Given the description of an element on the screen output the (x, y) to click on. 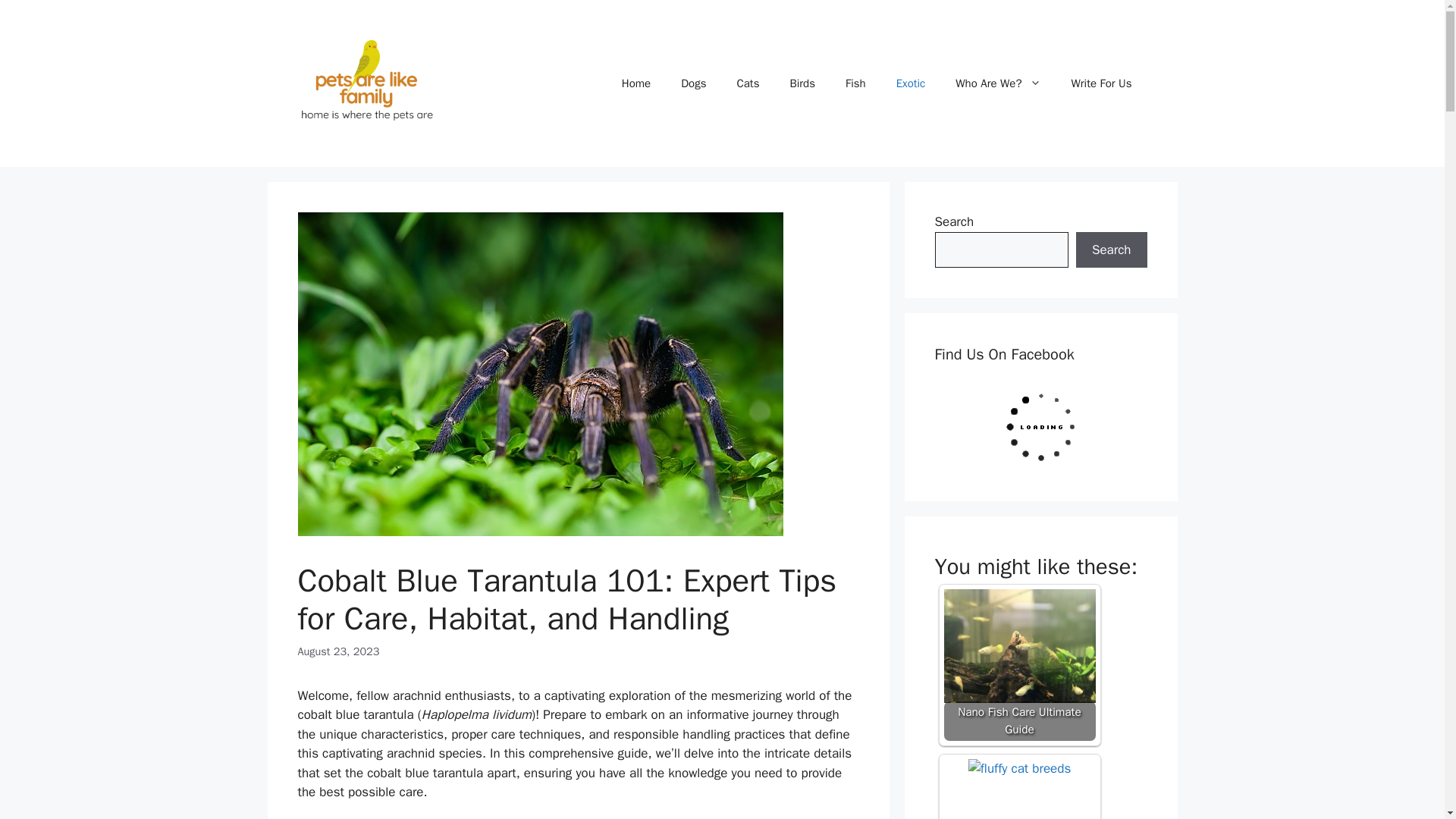
Home (636, 83)
Birds (801, 83)
Fish (854, 83)
Exotic (910, 83)
Cats (747, 83)
Write For Us (1101, 83)
Dogs (692, 83)
Who Are We? (997, 83)
